Given the description of an element on the screen output the (x, y) to click on. 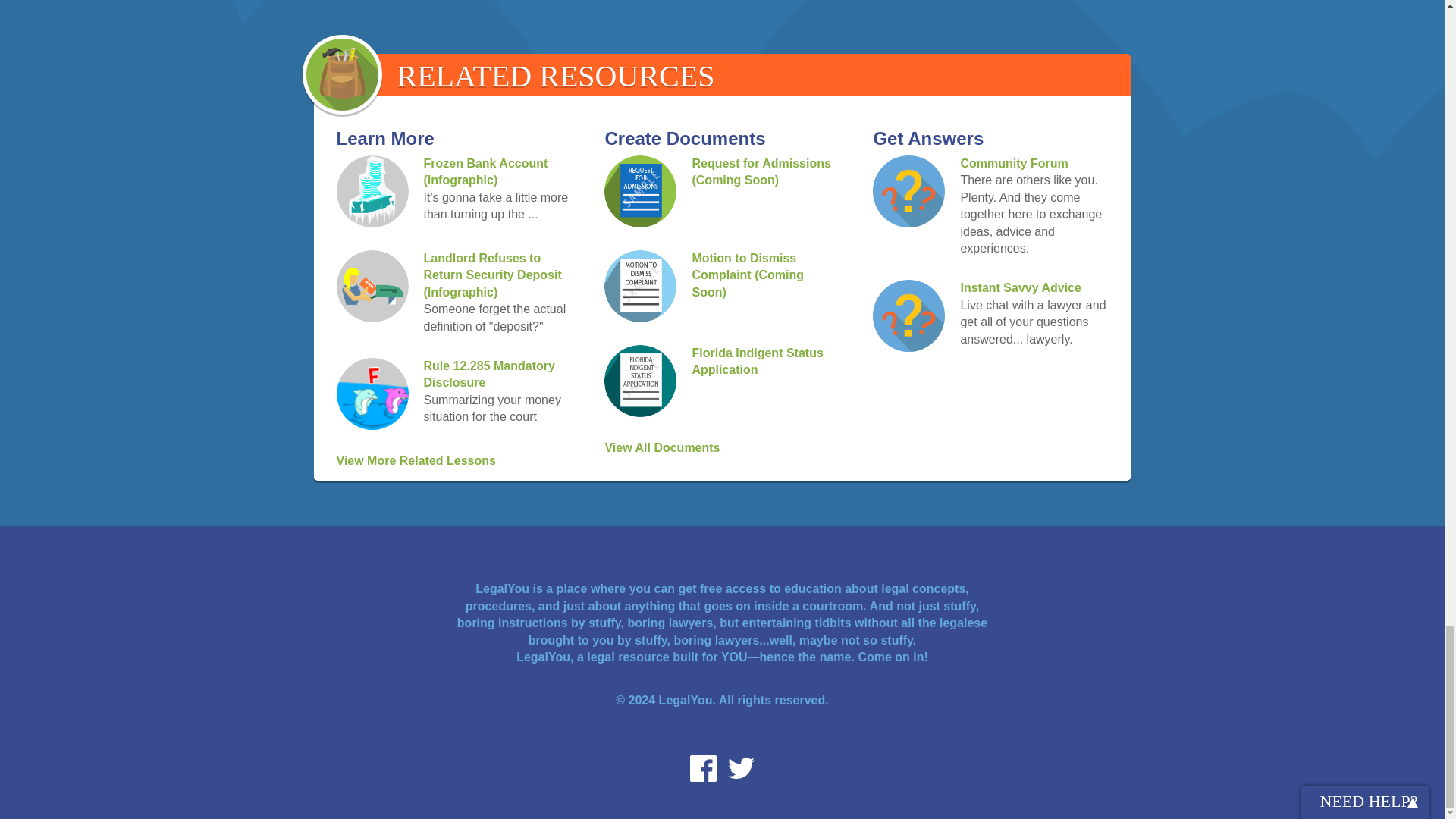
View All Documents (661, 447)
Rule 12.285 Mandatory Disclosure (488, 374)
View More Related Lessons (416, 460)
Community Forum (1013, 163)
Instant Savvy Advice (1019, 287)
Florida Indigent Status Application (756, 360)
